Given the description of an element on the screen output the (x, y) to click on. 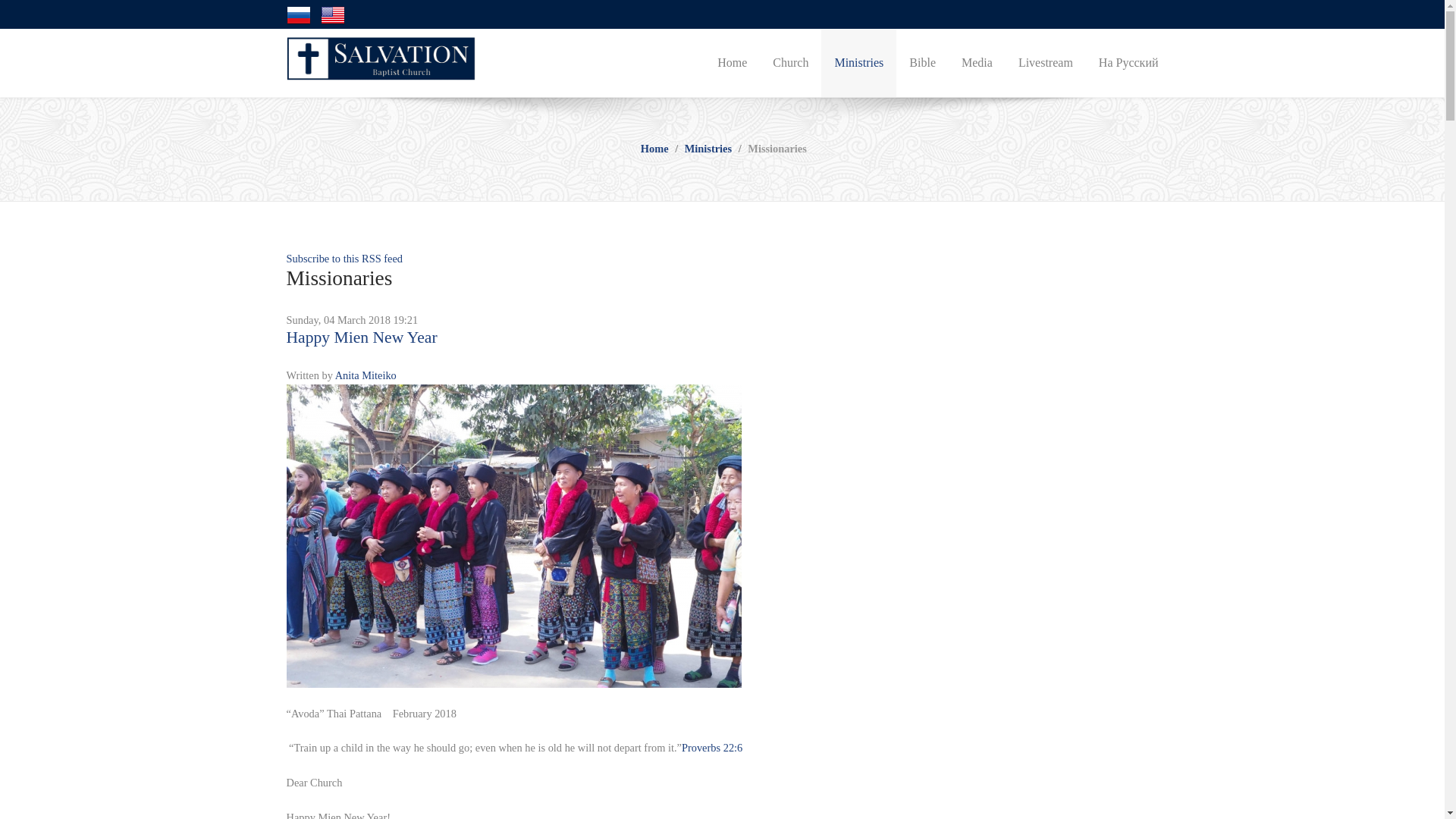
Church (790, 62)
Subscribe to this RSS feed (344, 258)
Happy Mien New Year (513, 534)
Ministries (858, 62)
Salvation Baptist Church (381, 56)
